Given the description of an element on the screen output the (x, y) to click on. 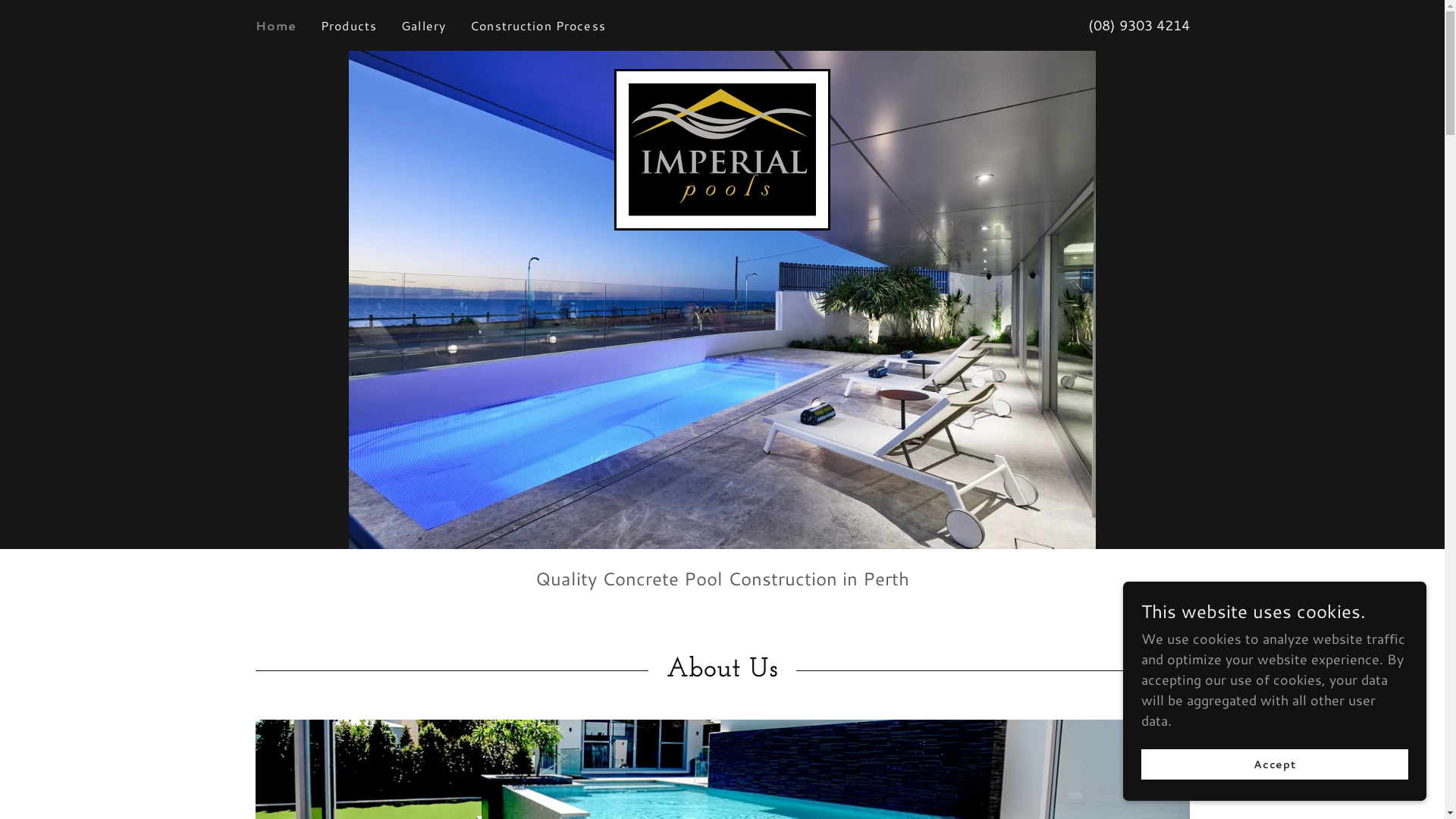
Construction Process Element type: text (537, 25)
Home Element type: text (275, 25)
(08) 9303 4214 Element type: text (1138, 24)
Accept Element type: text (1274, 764)
Products Element type: text (348, 25)
Imperial Pools Element type: hover (721, 147)
Gallery Element type: text (423, 25)
